Given the description of an element on the screen output the (x, y) to click on. 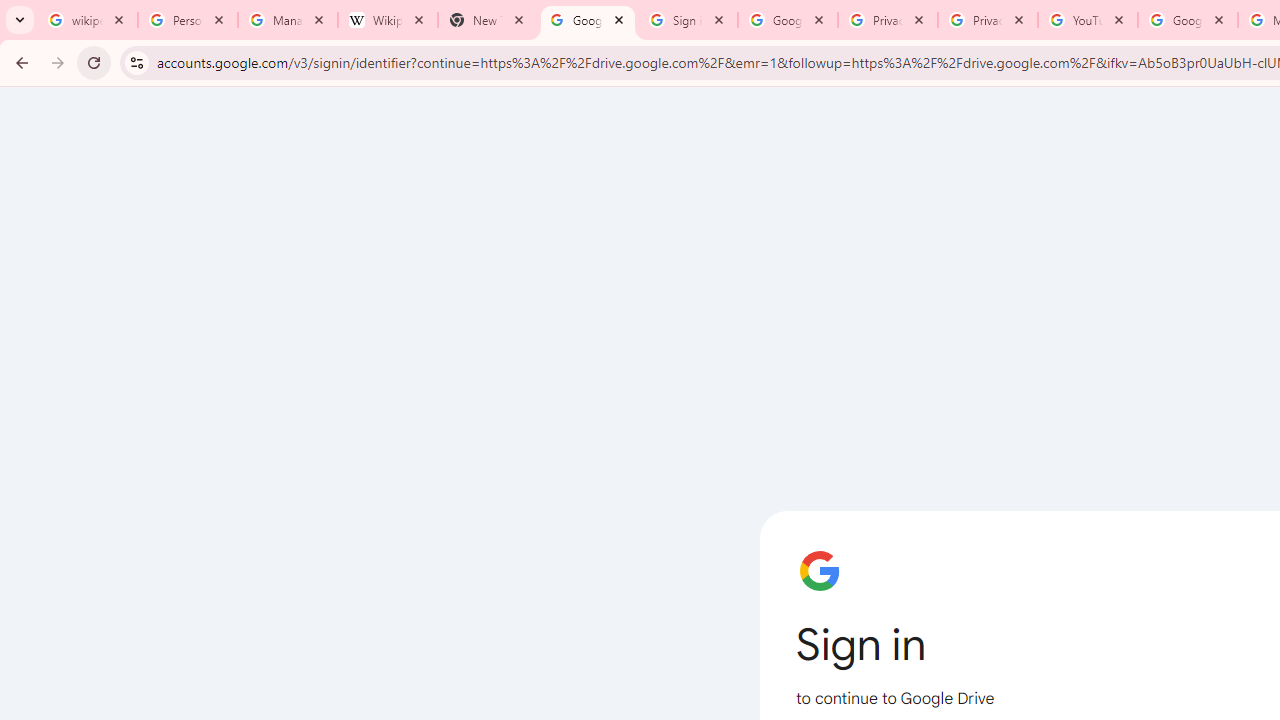
YouTube (1087, 20)
Google Account Help (1187, 20)
Personalization & Google Search results - Google Search Help (188, 20)
Google Drive: Sign-in (788, 20)
Wikipedia:Edit requests - Wikipedia (387, 20)
New Tab (487, 20)
